Given the description of an element on the screen output the (x, y) to click on. 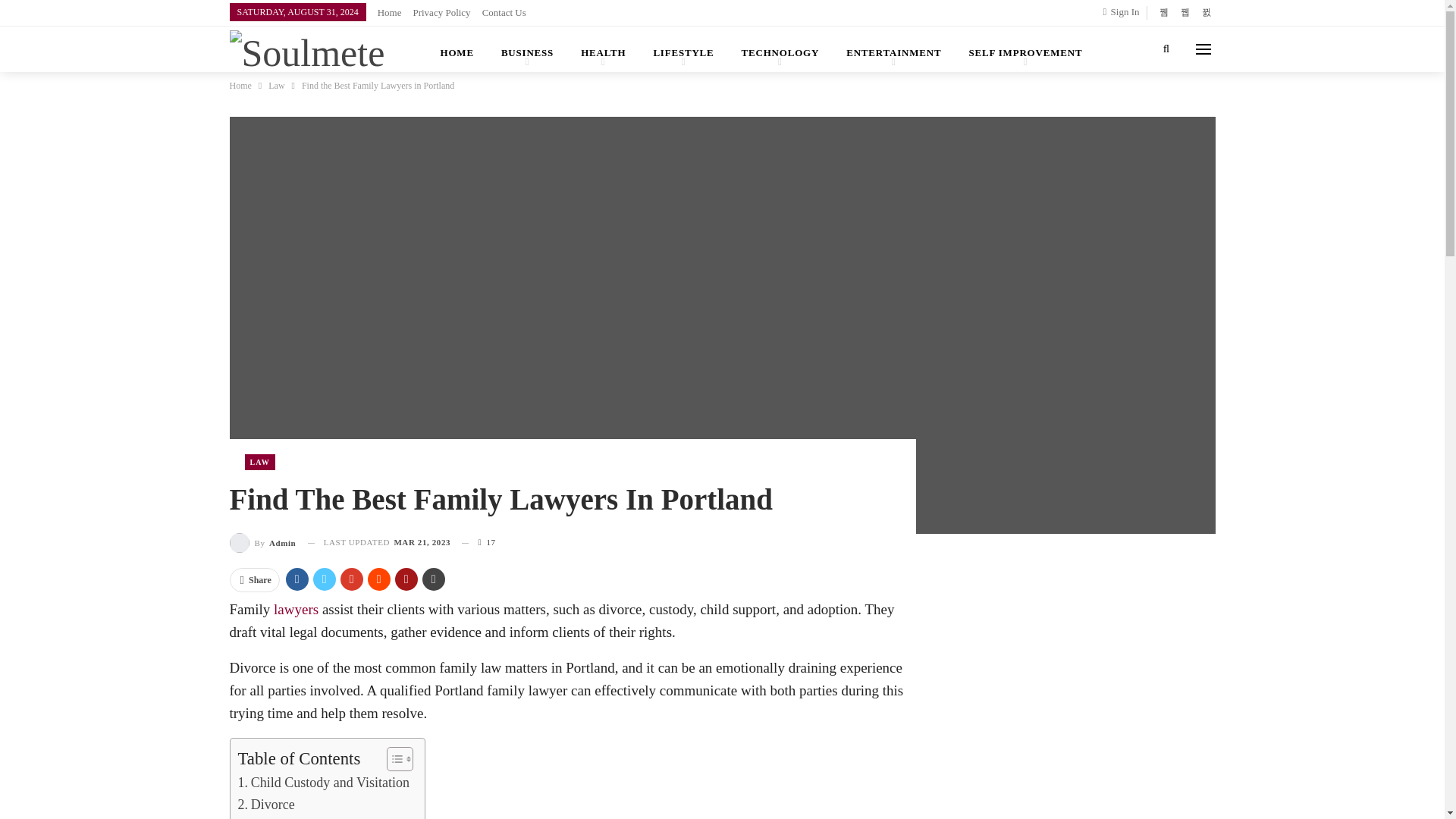
Browse Author Articles (261, 542)
TECHNOLOGY (780, 49)
HOME (456, 49)
Divorce (266, 804)
BUSINESS (527, 49)
Child Custody and Visitation (324, 782)
Contact Us (503, 12)
Sign In (1124, 12)
Home (389, 12)
